Given the description of an element on the screen output the (x, y) to click on. 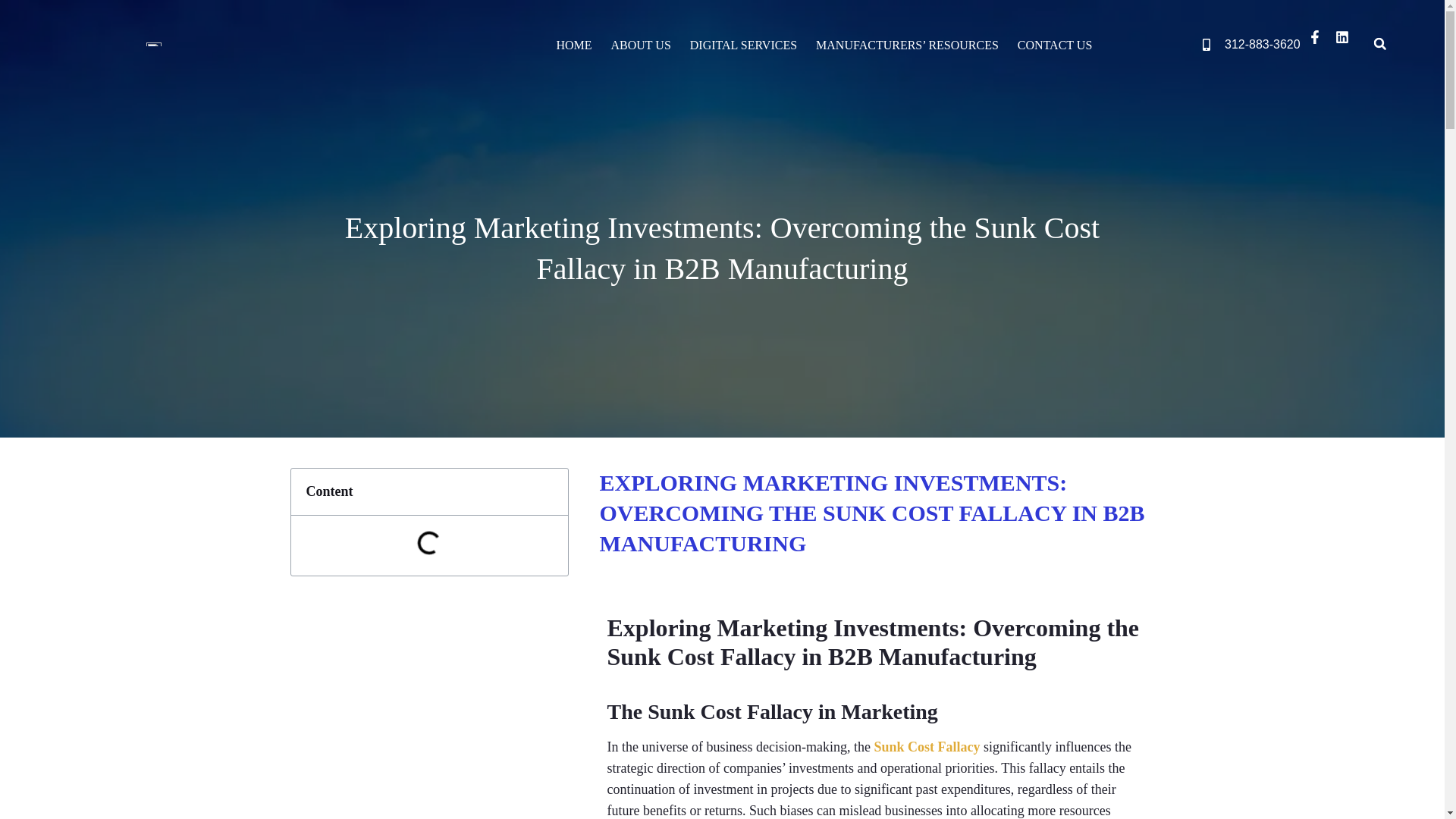
CONTACT US (1054, 45)
312-883-3620 (1253, 45)
DIGITAL SERVICES (743, 45)
HOME (573, 45)
ABOUT US (640, 45)
